Given the description of an element on the screen output the (x, y) to click on. 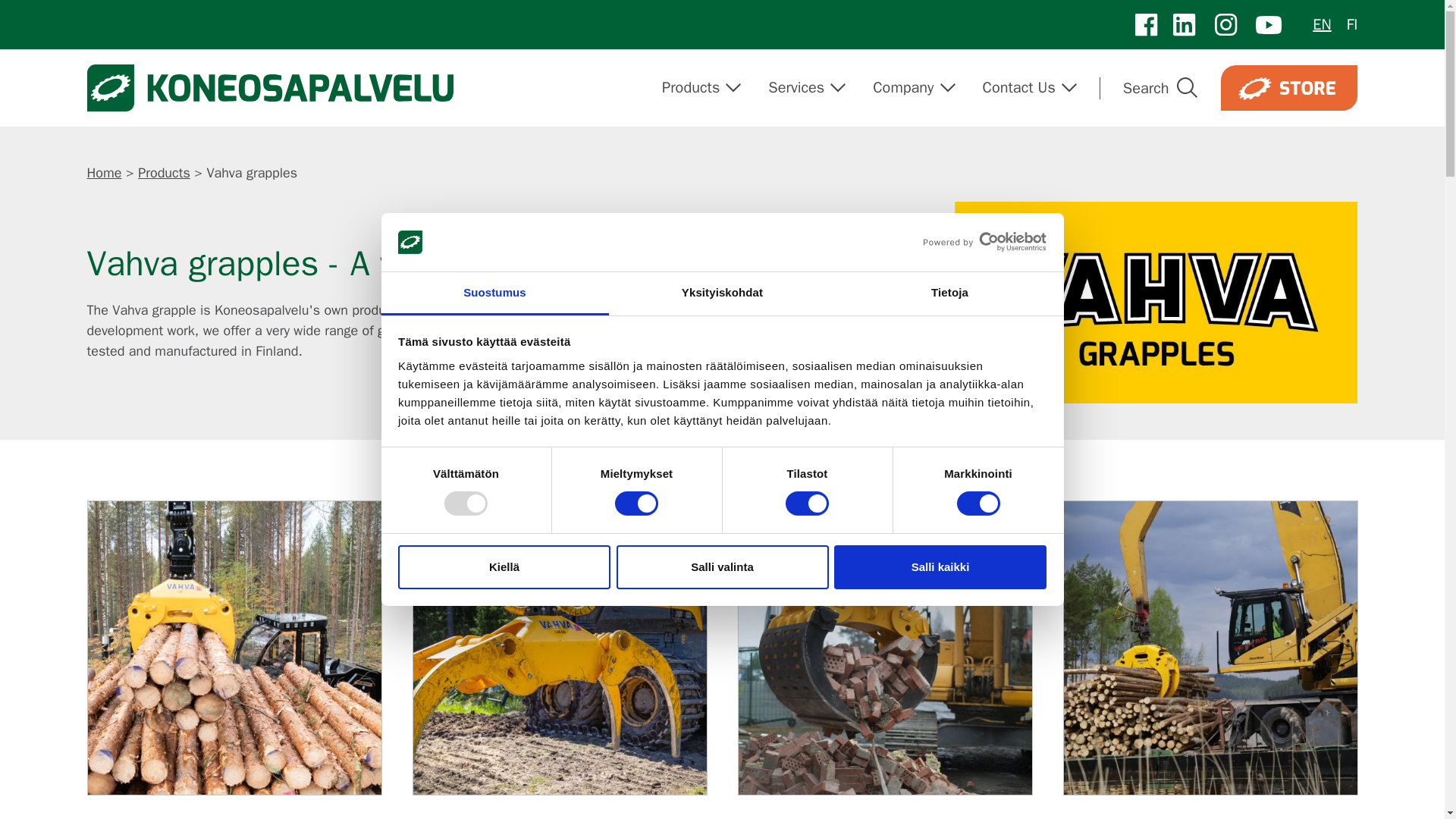
Suostumus (494, 293)
Salli valinta (721, 566)
Products (695, 87)
Yksityiskohdat (721, 293)
Tietoja (948, 293)
Salli kaikki (940, 566)
